Given the description of an element on the screen output the (x, y) to click on. 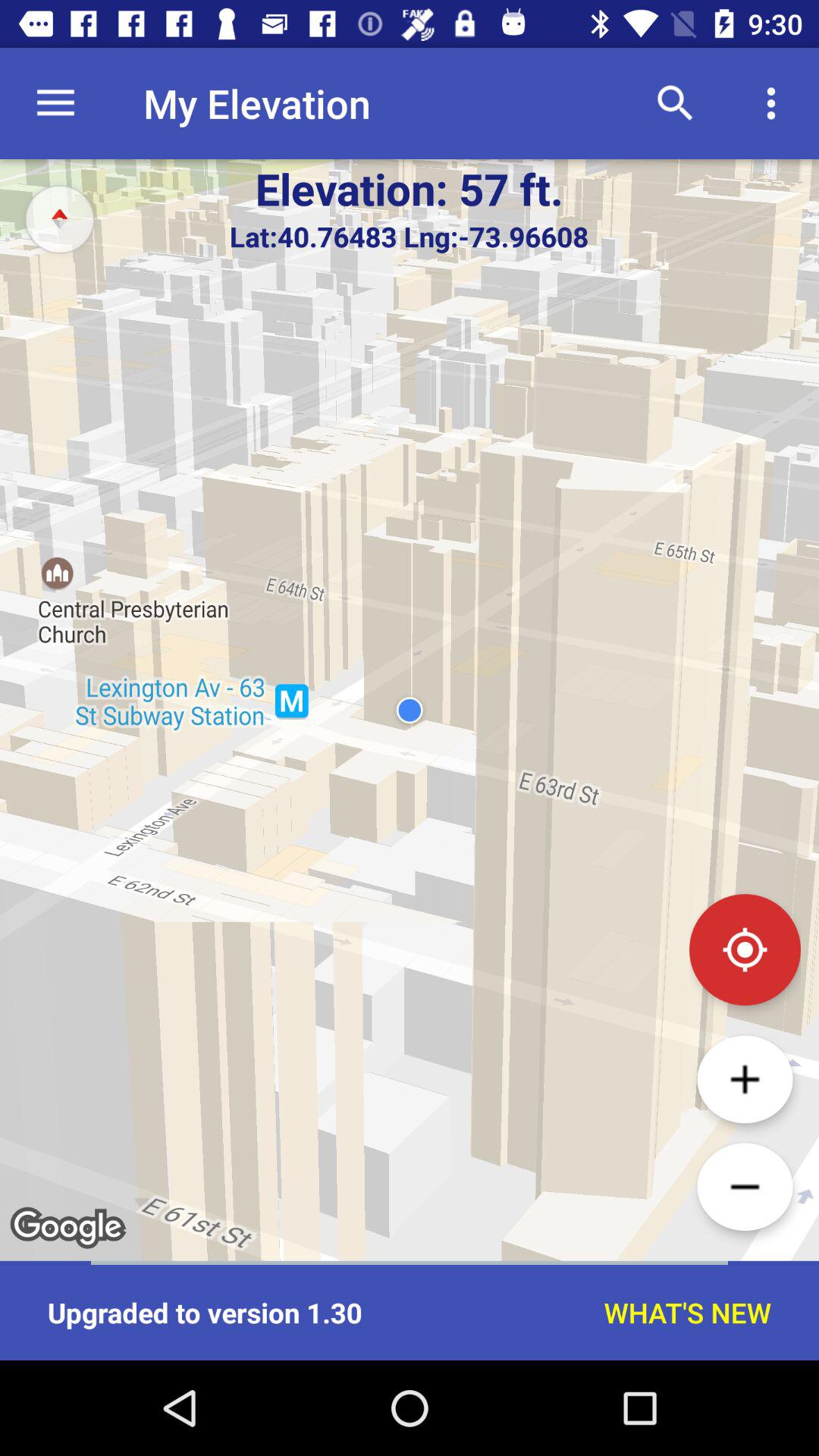
zoom out option (744, 1186)
